Given the description of an element on the screen output the (x, y) to click on. 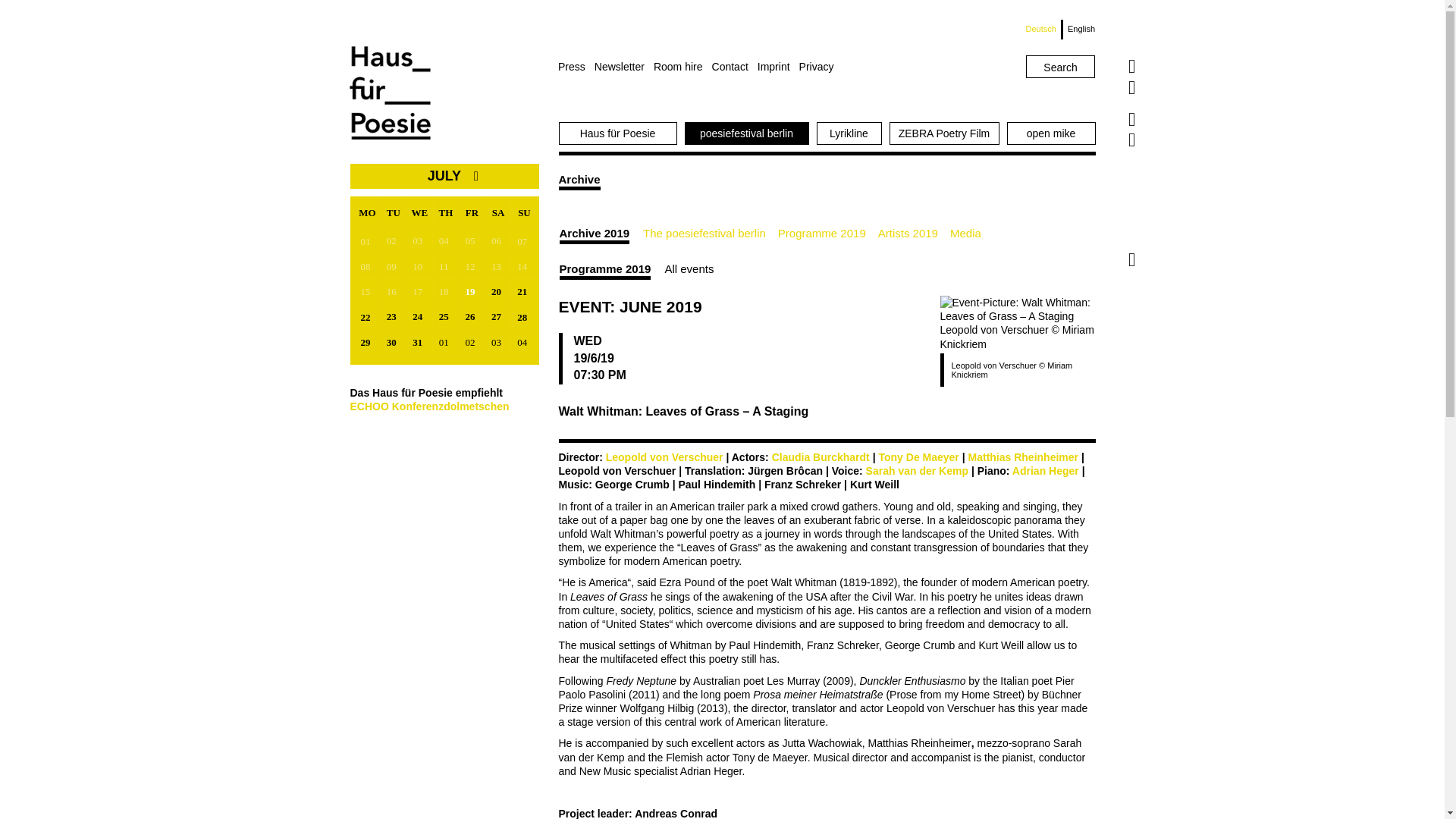
Das Poesiefestival-Berlin bei Facebook (1130, 119)
Contact (734, 66)
English (1078, 29)
Imprint (778, 66)
Privacy (821, 66)
Search (1060, 66)
Deutsch (1044, 29)
Newsletter (623, 66)
Room hire (682, 66)
01 (366, 241)
02 (393, 240)
Press (575, 66)
